Given the description of an element on the screen output the (x, y) to click on. 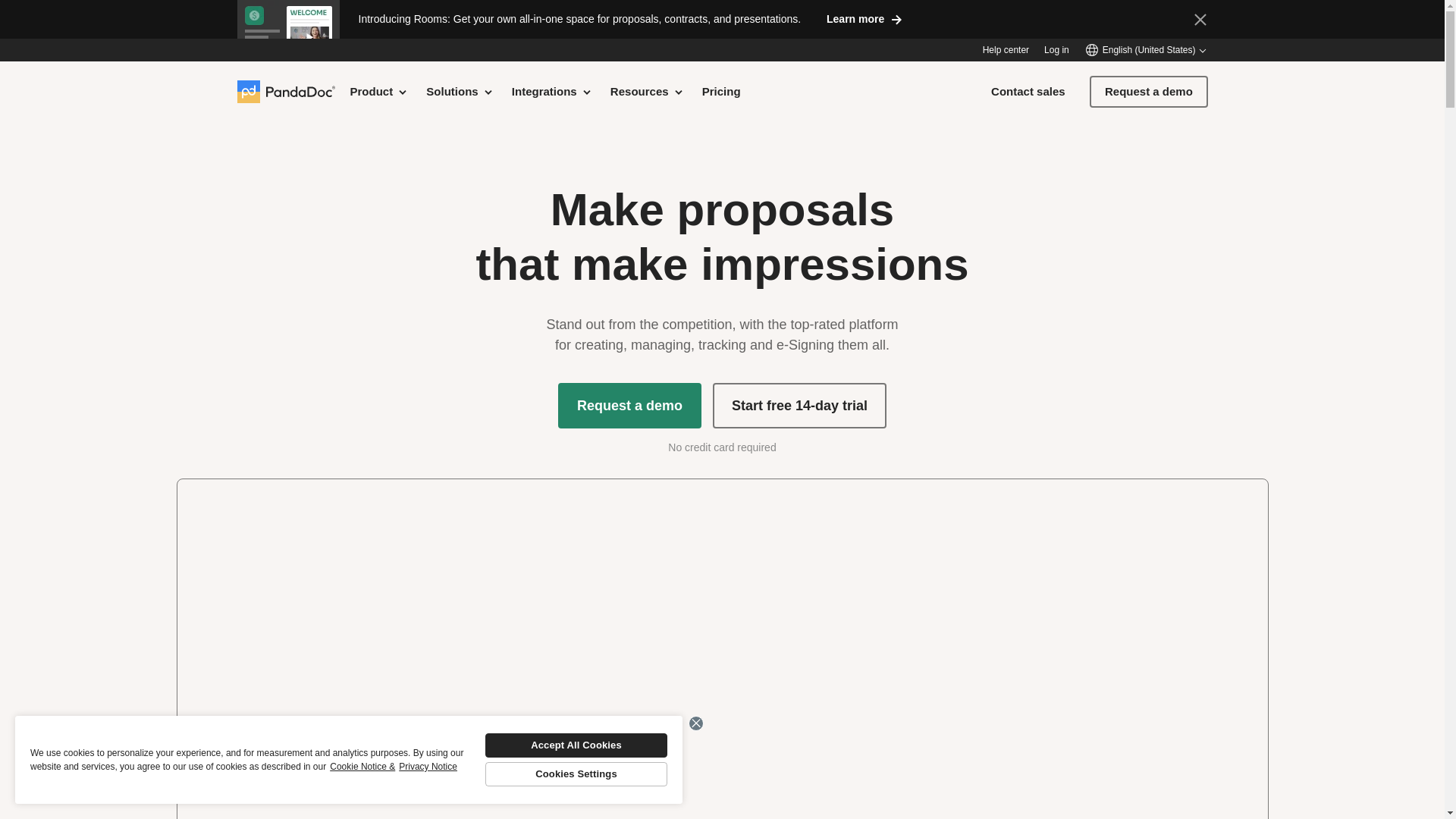
Solutions (459, 91)
Log in (1055, 49)
Learn more (864, 18)
Product (379, 91)
Help center (1005, 49)
